Given the description of an element on the screen output the (x, y) to click on. 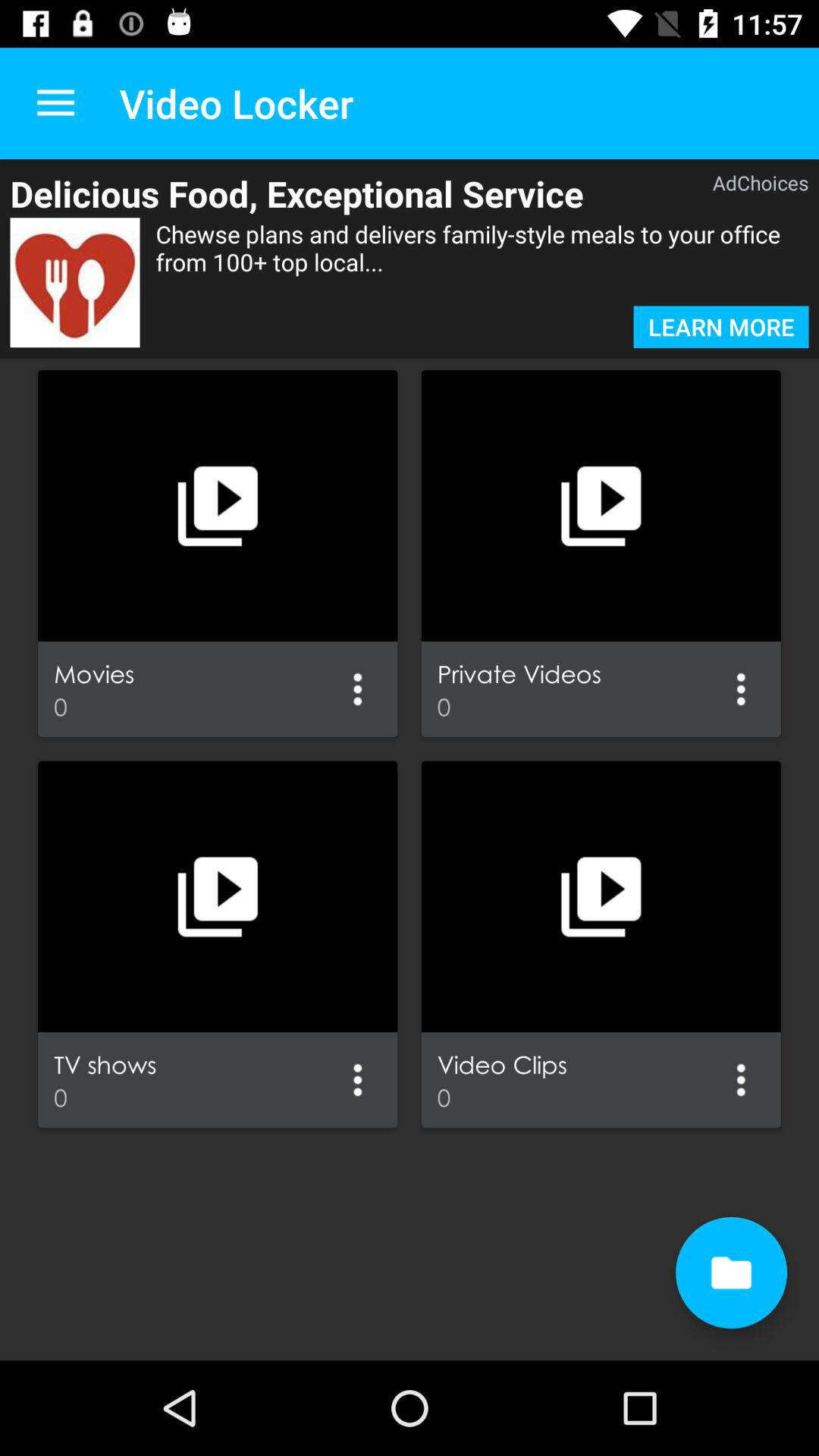
toggle document option (731, 1272)
